Given the description of an element on the screen output the (x, y) to click on. 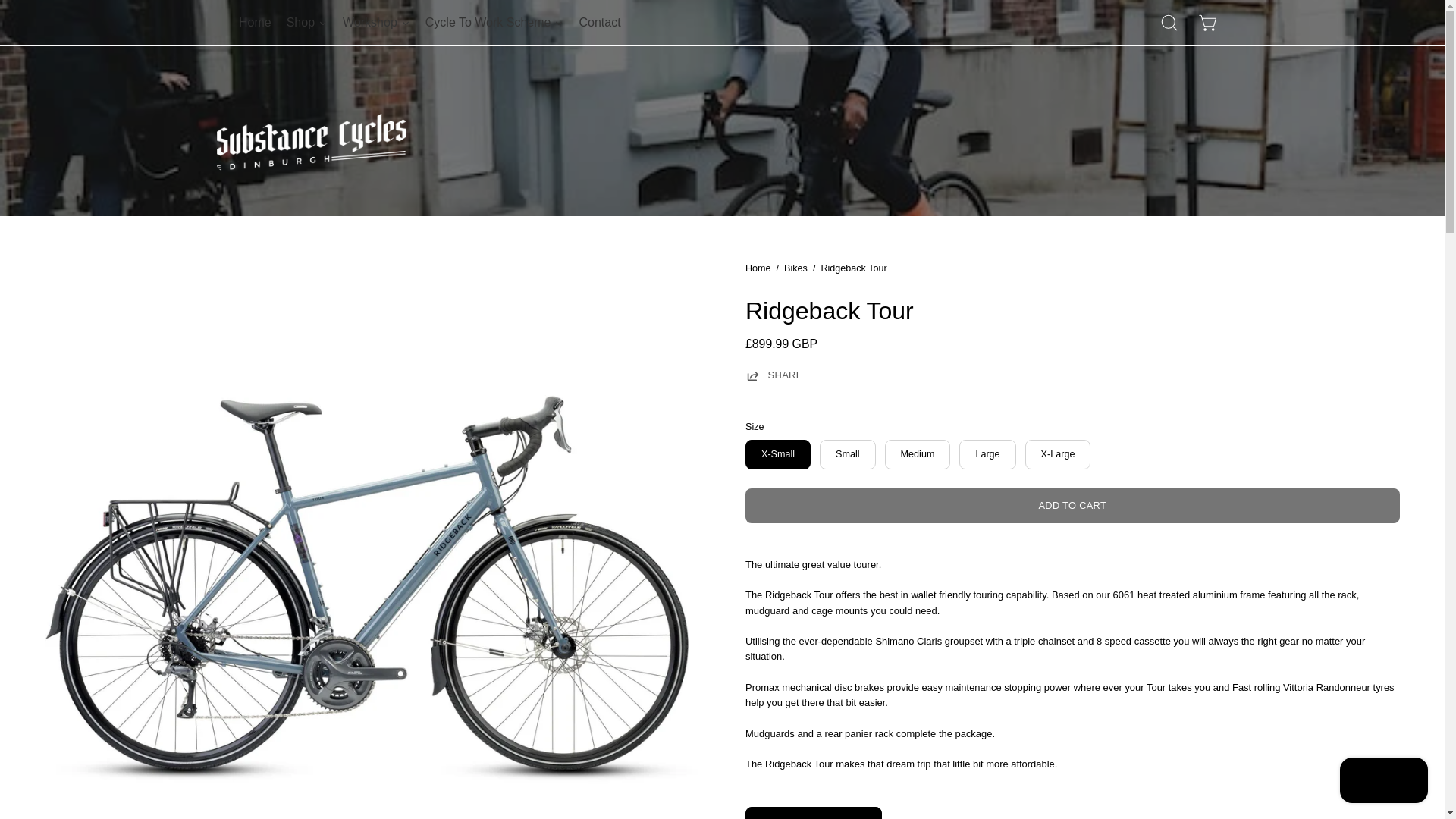
Go back to Home page (757, 268)
Workshop (375, 22)
Home (255, 22)
Open search bar (1169, 22)
Cycle To Work Scheme (494, 22)
Contact (598, 22)
Shop (306, 22)
Home (255, 22)
Workshop (375, 22)
Shop (306, 22)
